Given the description of an element on the screen output the (x, y) to click on. 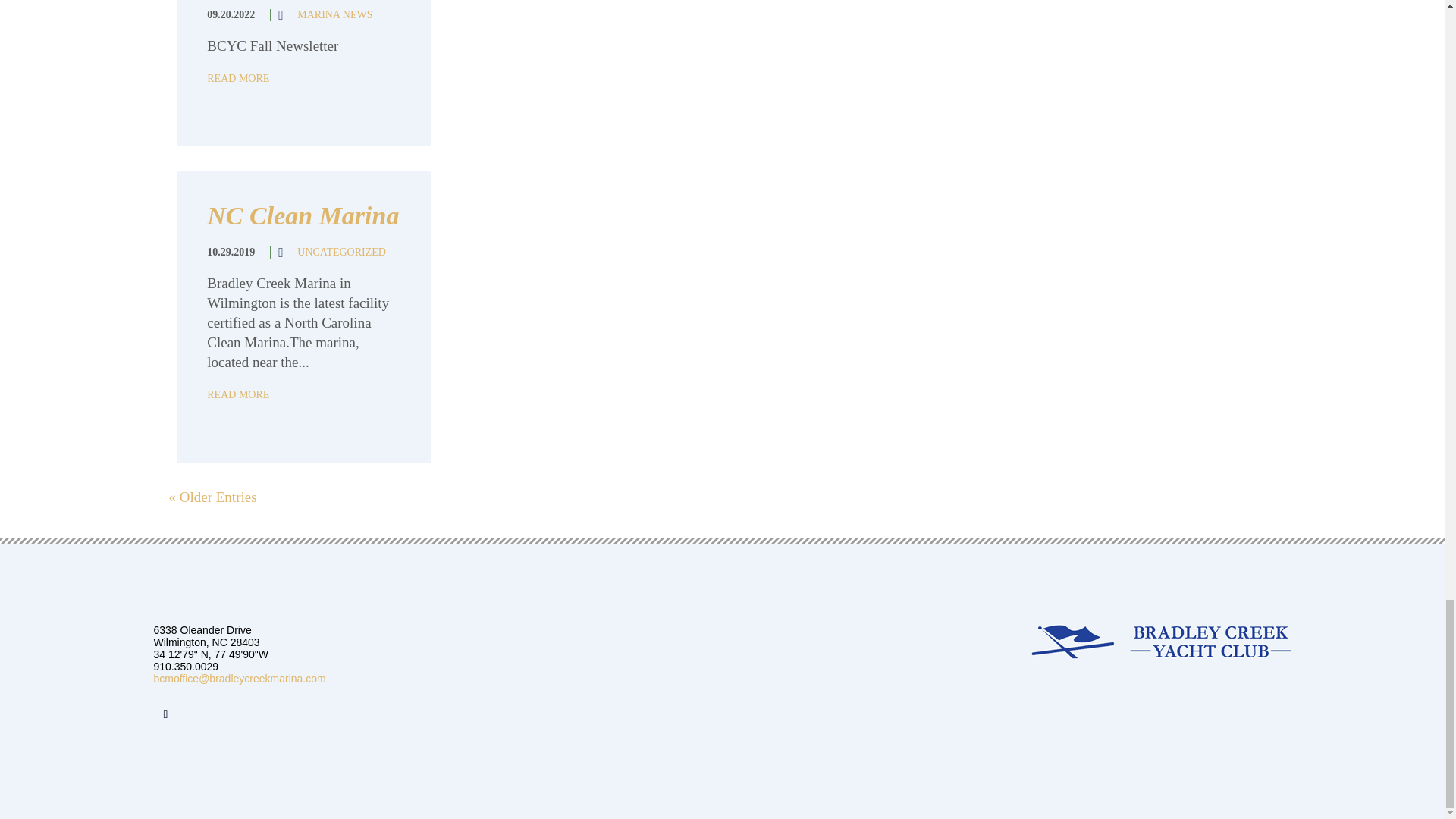
UNCATEGORIZED (341, 251)
READ MORE (237, 78)
MARINA NEWS (334, 14)
NC Clean Marina (302, 215)
elogated logo (1155, 642)
Follow on Facebook (164, 713)
